Given the description of an element on the screen output the (x, y) to click on. 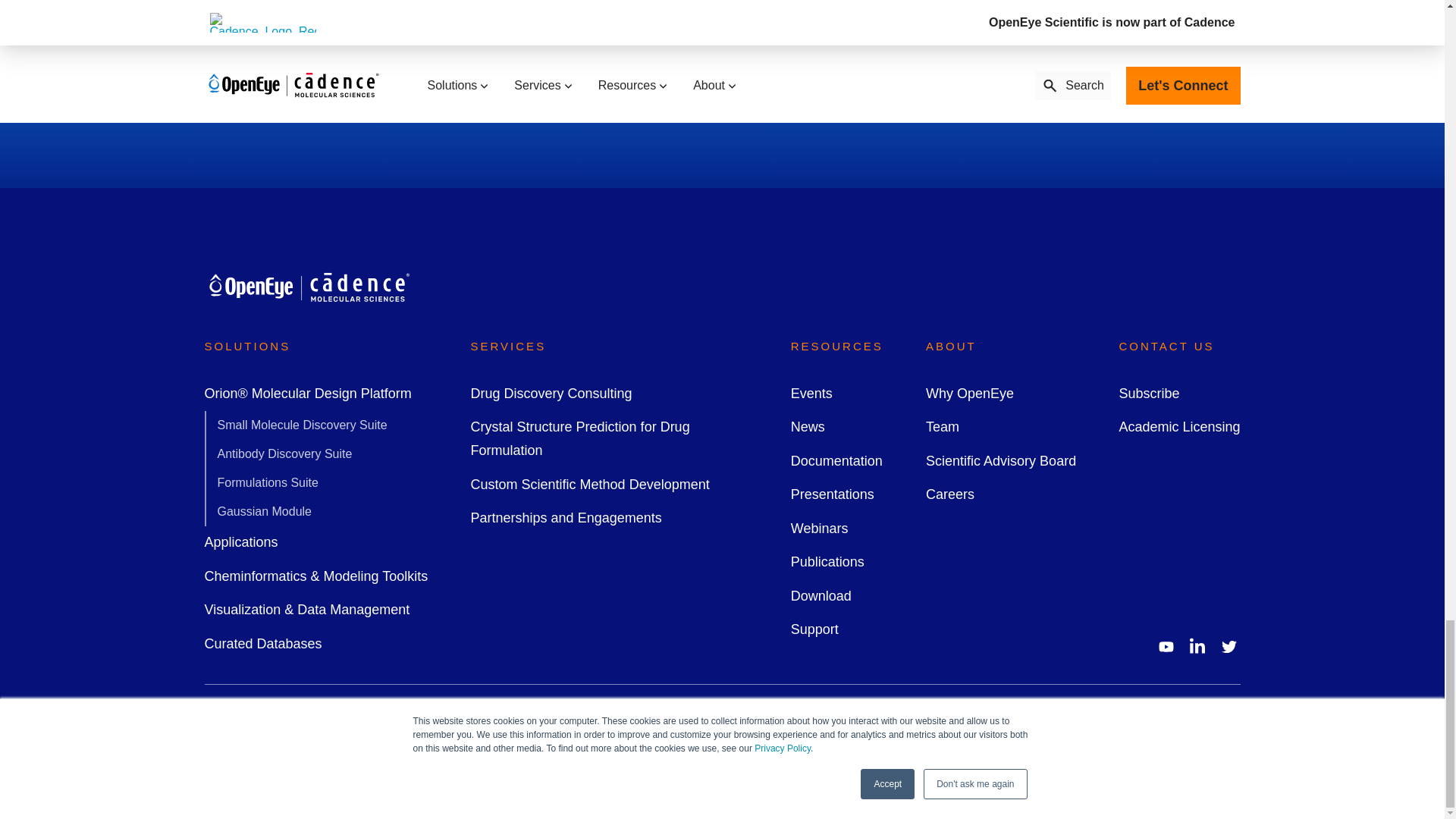
Horizontal-OpenEye-Cadence-all-white-2024-01 (308, 285)
